Given the description of an element on the screen output the (x, y) to click on. 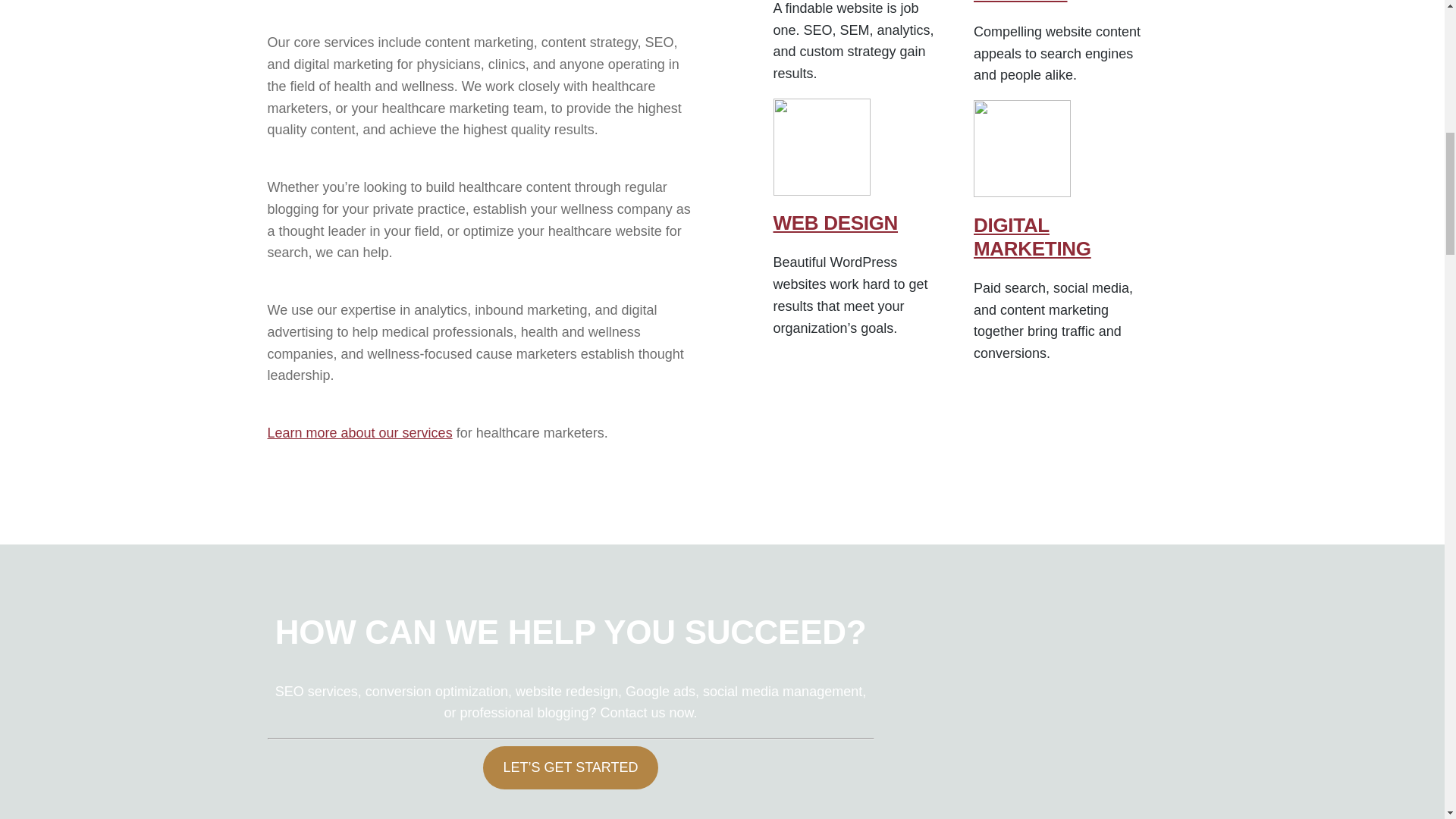
WEBSITE CONTENT (1020, 2)
DIGITAL MARKETING (1032, 236)
WEB DESIGN (835, 222)
Learn more about our services (358, 432)
